Given the description of an element on the screen output the (x, y) to click on. 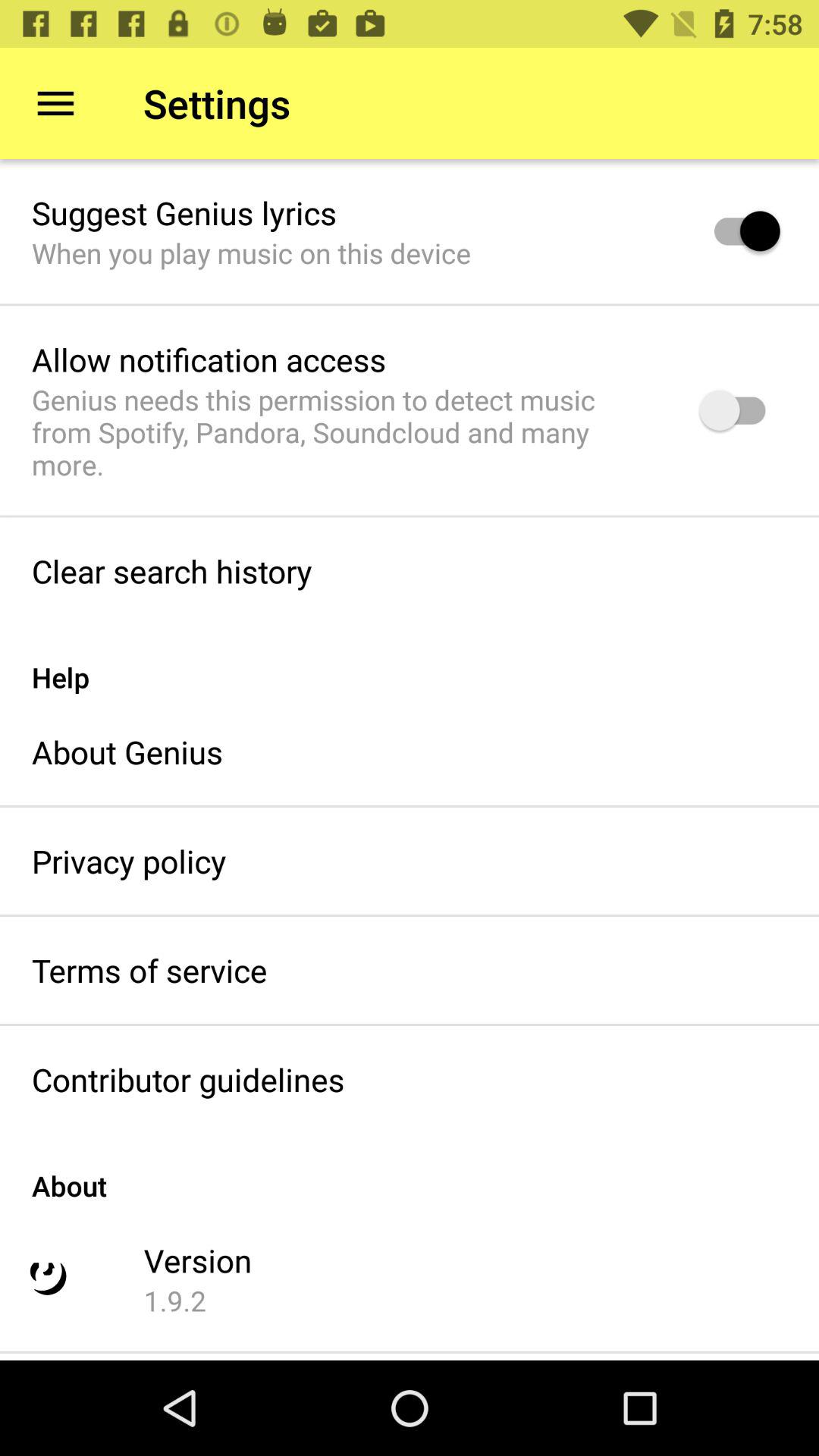
turn on item below clear search history (409, 661)
